Given the description of an element on the screen output the (x, y) to click on. 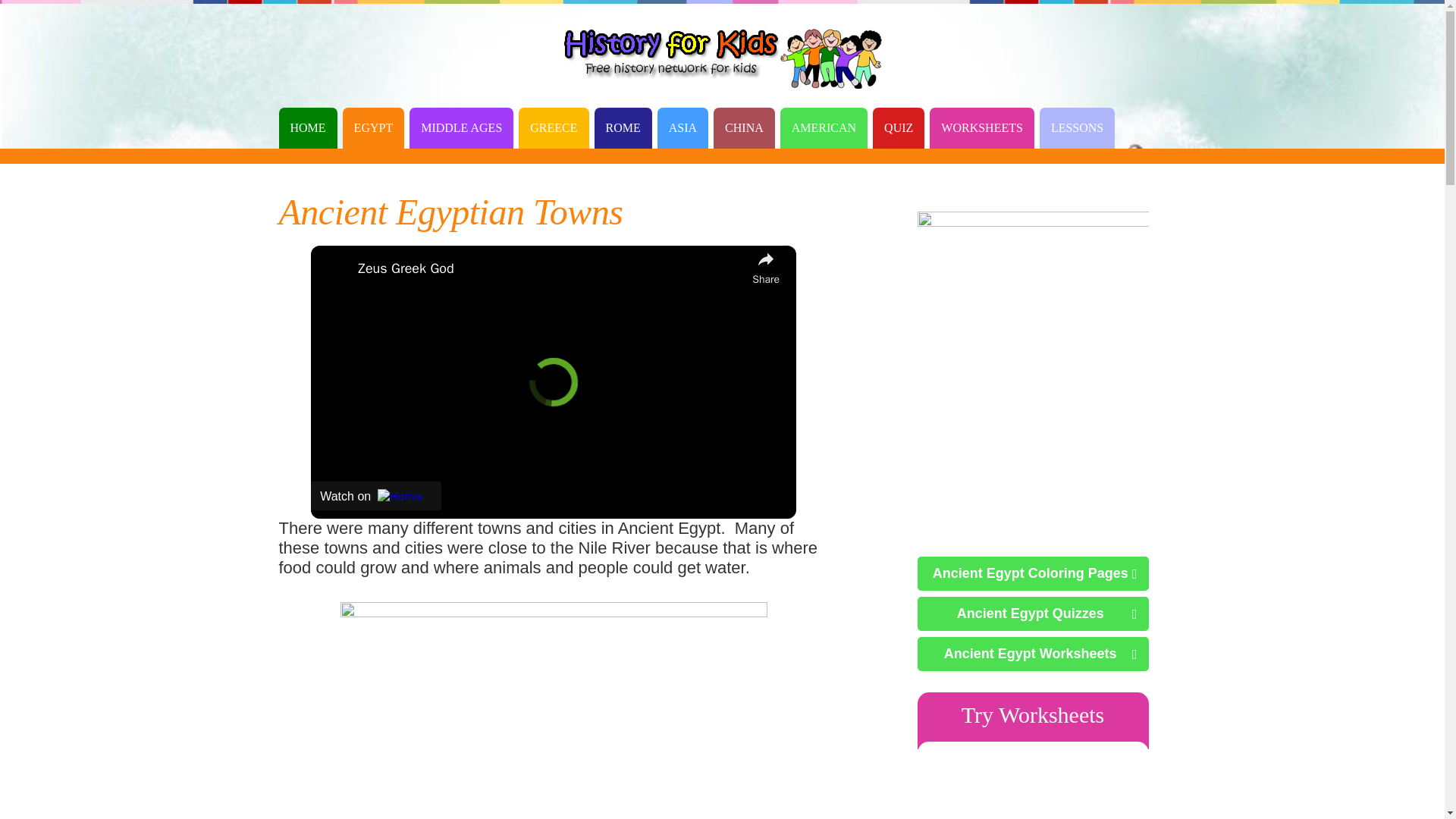
QUIZ (898, 127)
GREECE (553, 127)
WORKSHEETS (981, 127)
Watch on (376, 495)
HOME (308, 127)
Ancient Egypt Coloring Pages (1032, 573)
CHINA (743, 127)
Zeus Greek God (551, 268)
Ancient Egypt Worksheets (1032, 653)
AMERICAN (823, 127)
ASIA (682, 127)
EGYPT (373, 127)
LESSONS (1077, 127)
ROME (623, 127)
Ancient Egypt Quizzes (1032, 613)
